Given the description of an element on the screen output the (x, y) to click on. 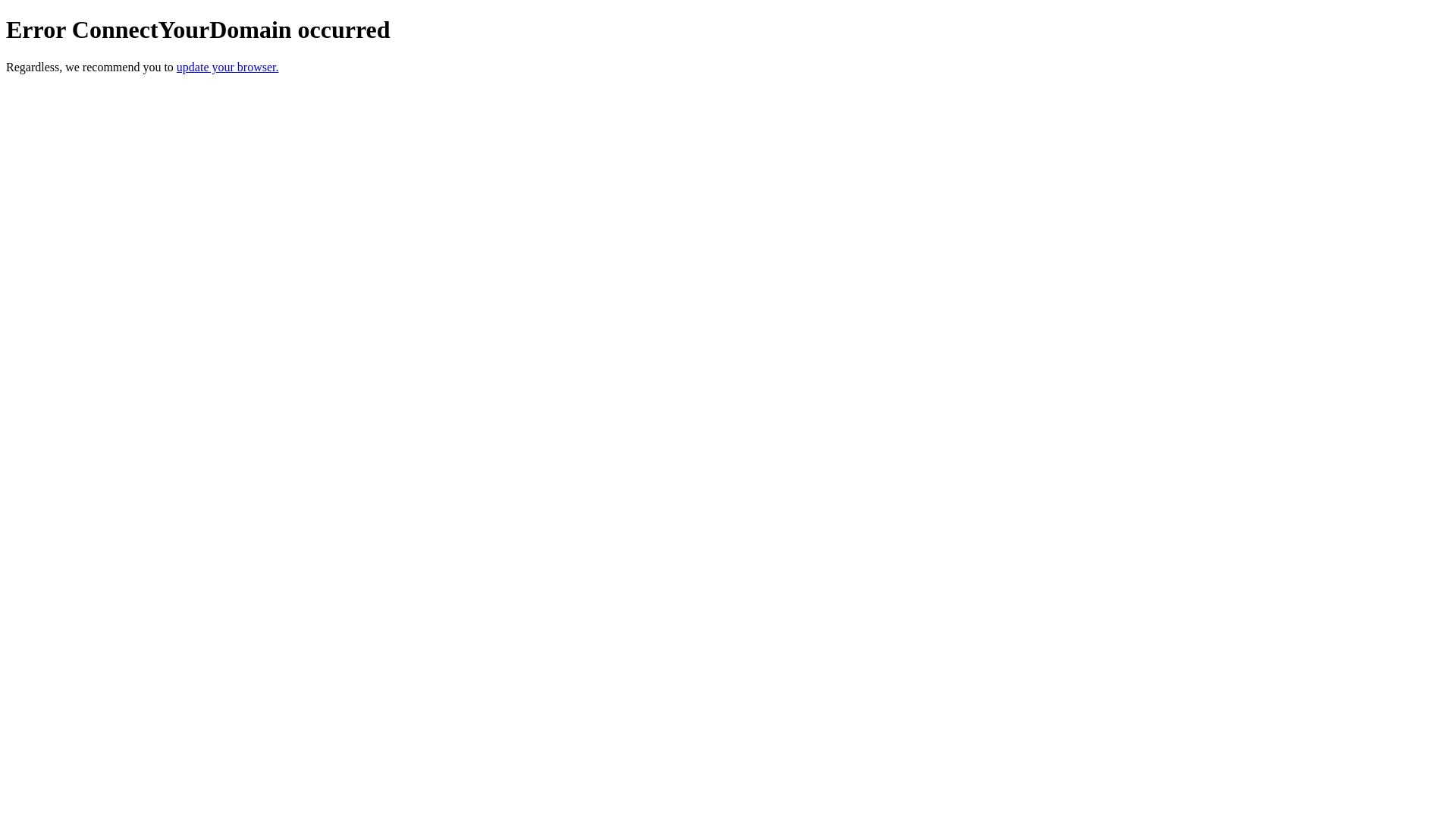
update your browser. Element type: text (227, 66)
